Given the description of an element on the screen output the (x, y) to click on. 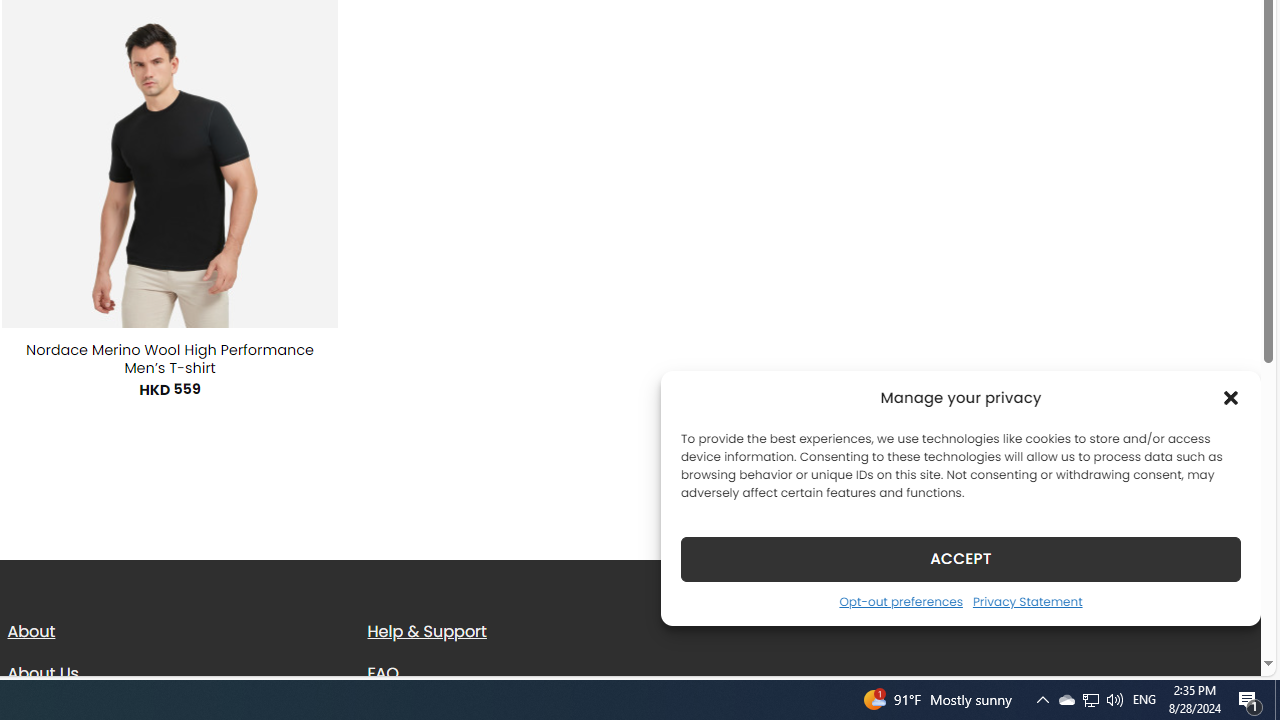
ACCEPT (960, 558)
FAQ (383, 672)
About Us (42, 672)
Go to top (1220, 647)
Privacy Statement (1026, 601)
Class: cmplz-close (1231, 397)
Opt-out preferences (900, 601)
FAQ (532, 673)
About Us (171, 673)
